Given the description of an element on the screen output the (x, y) to click on. 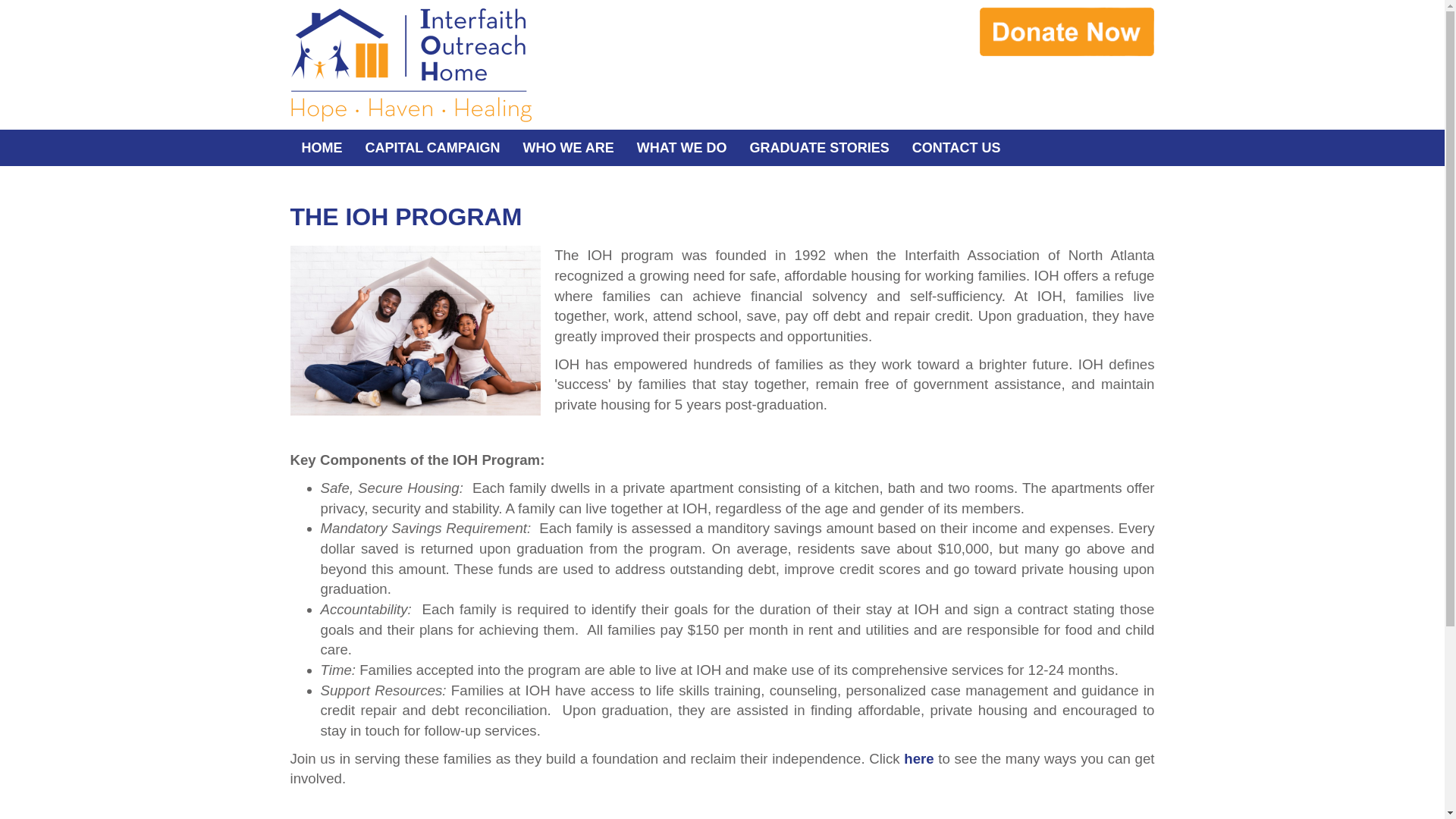
CONTACT US (956, 147)
Donate Now (1066, 31)
WHO WE ARE (567, 147)
HOME (321, 147)
GRADUATE STORIES (818, 147)
WHAT WE DO (682, 147)
here (918, 758)
CAPITAL CAMPAIGN (432, 147)
